Given the description of an element on the screen output the (x, y) to click on. 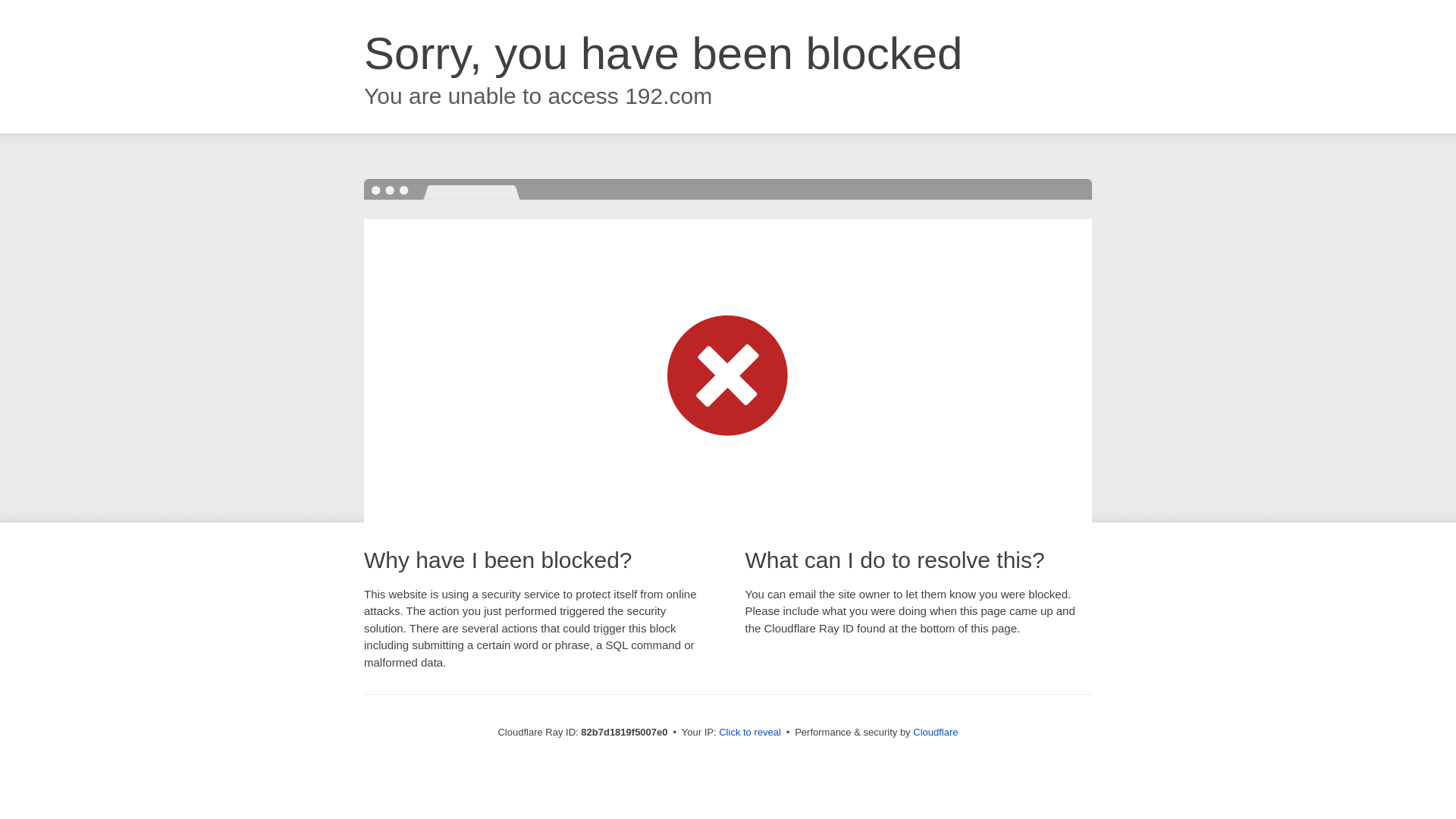
Cloudflare Element type: text (935, 731)
Click to reveal Element type: text (749, 732)
